Given the description of an element on the screen output the (x, y) to click on. 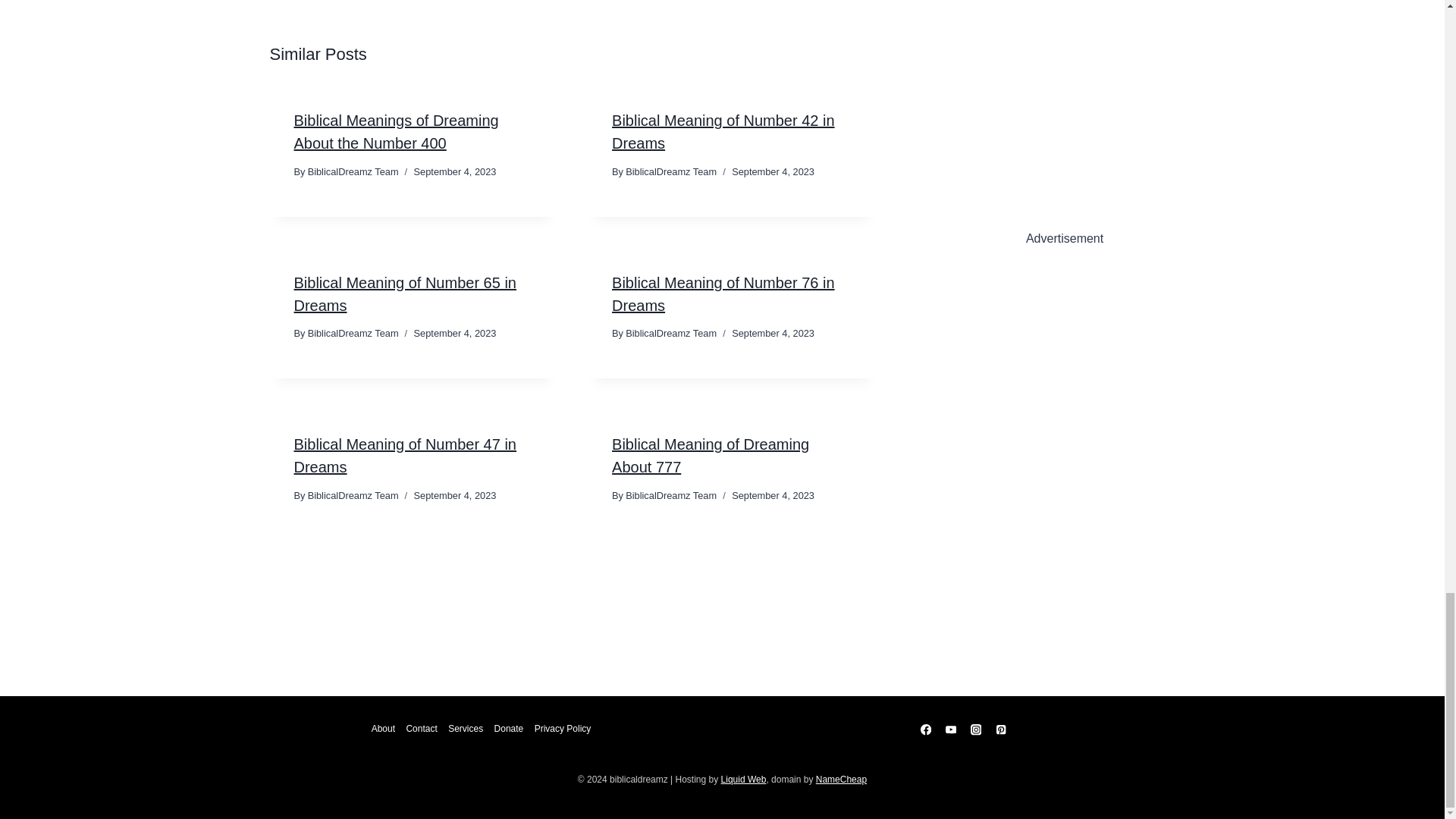
BiblicalDreamz Team (352, 333)
Biblical Meanings of Dreaming About the Number 400 (396, 131)
BiblicalDreamz Team (671, 333)
Biblical Meaning of Number 65 in Dreams (405, 293)
BiblicalDreamz Team (671, 171)
Biblical Meaning of Number 42 in Dreams (722, 131)
BiblicalDreamz Team (352, 171)
Biblical Meaning of Number 76 in Dreams (722, 293)
